Given the description of an element on the screen output the (x, y) to click on. 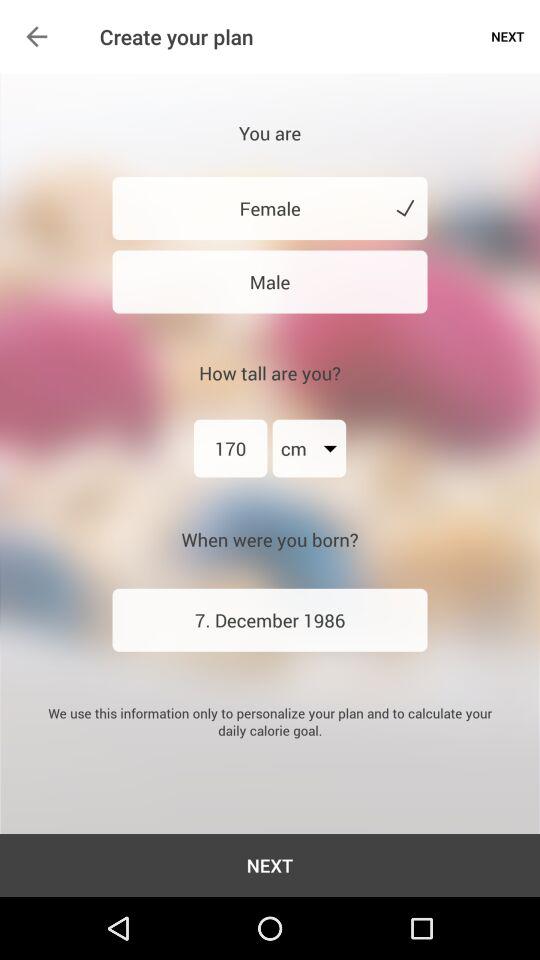
turn off the item next to the cm item (230, 448)
